Given the description of an element on the screen output the (x, y) to click on. 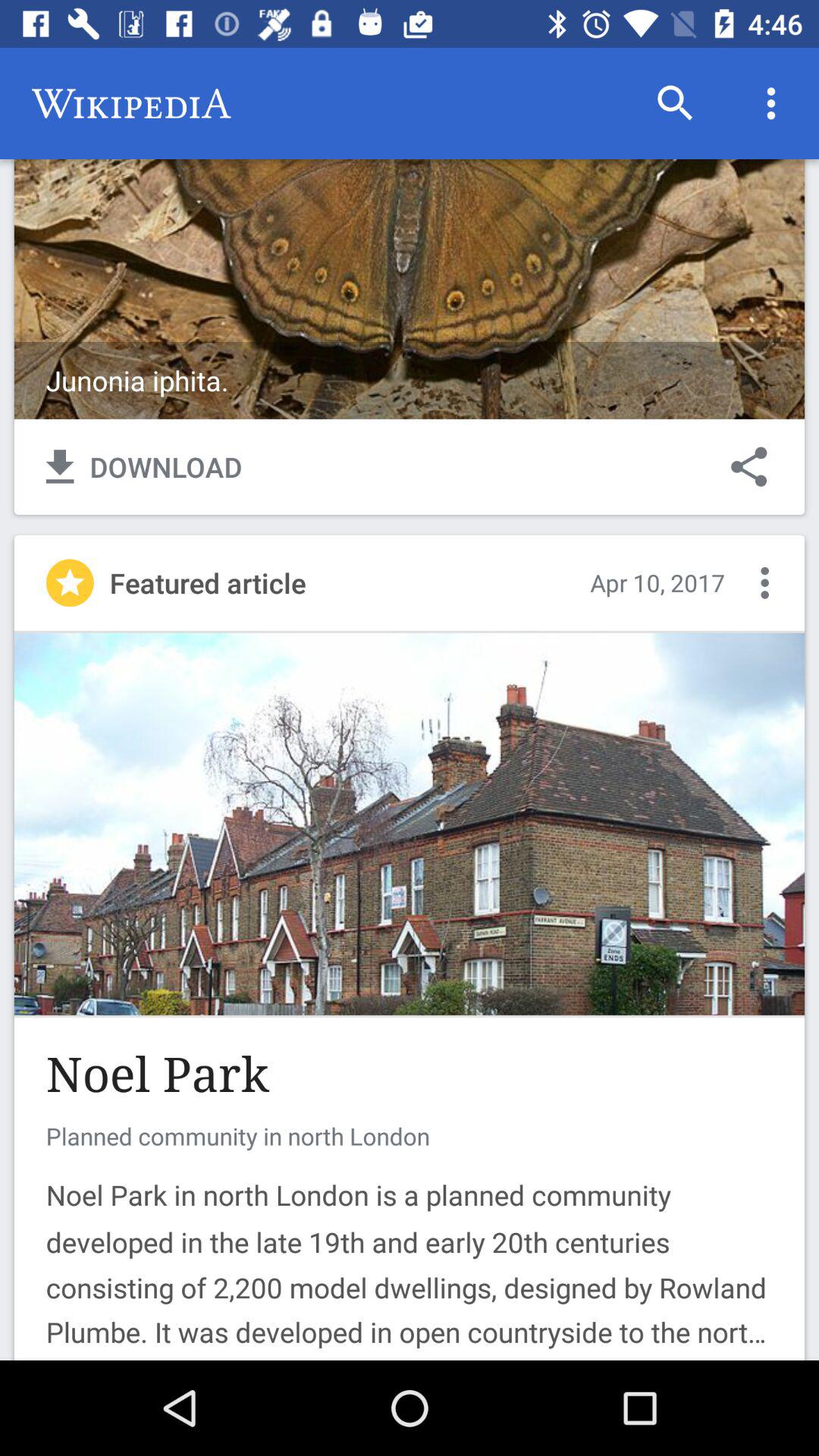
turn on the icon next to the download item (748, 466)
